Given the description of an element on the screen output the (x, y) to click on. 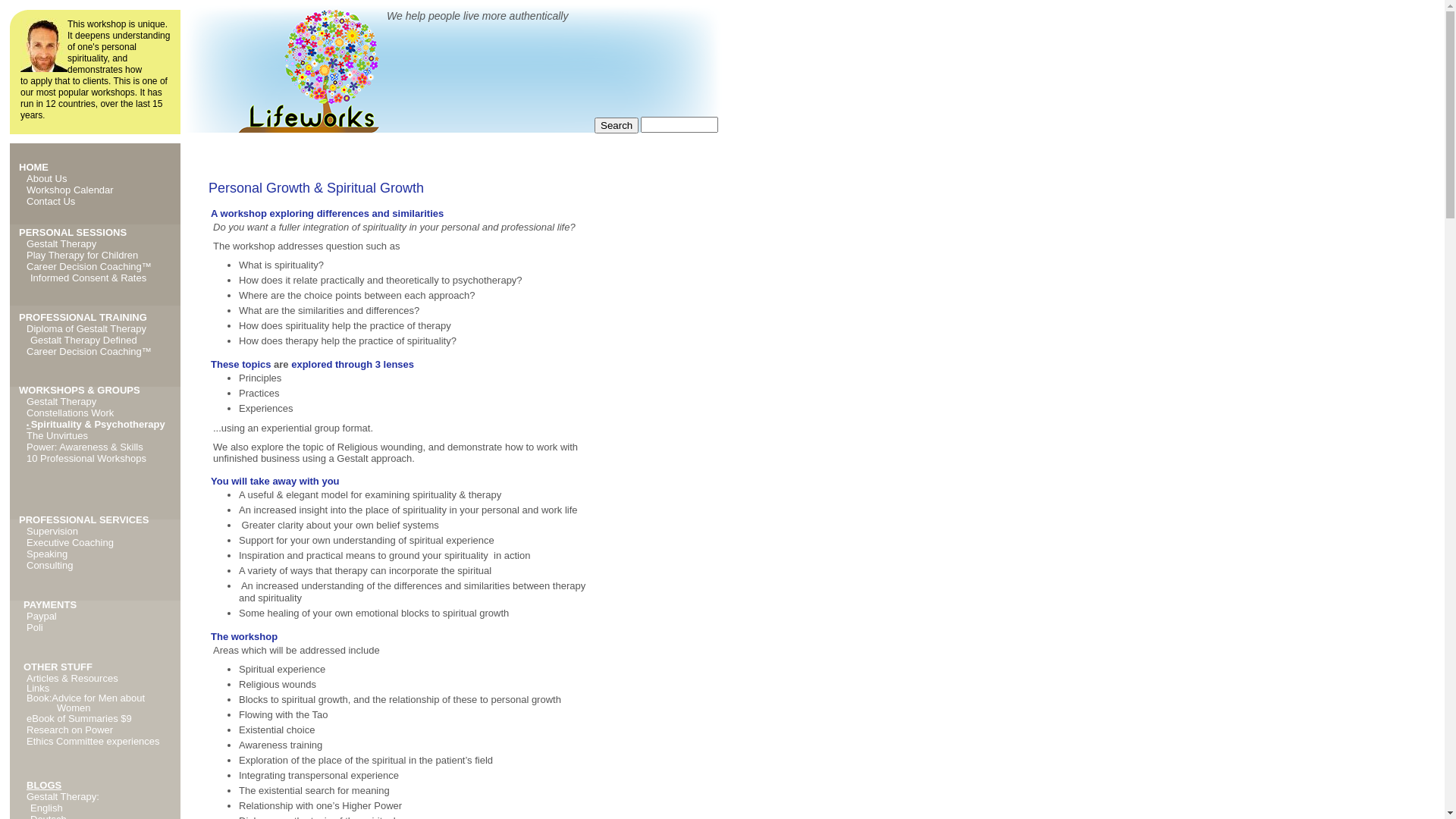
Ethics Committee experiences Element type: text (93, 740)
The Unvirtues Element type: text (56, 435)
Power: Awareness & Skills Element type: text (84, 446)
OTHER STUFF Element type: text (57, 666)
Links Element type: text (37, 687)
BLOGS Element type: text (43, 784)
Gestalt Therapy Defined Element type: text (83, 339)
Speaking Element type: text (46, 553)
Gestalt Therapy Element type: text (61, 243)
Consulting Element type: text (49, 565)
Search Element type: text (616, 125)
About Us Element type: text (46, 178)
Gestalt Therapy Element type: text (61, 401)
PAYMENTS Element type: text (49, 604)
10 Professional Workshops Element type: text (86, 458)
Executive Coaching Element type: text (69, 542)
Diploma of Gestalt Therapy Element type: text (86, 328)
Play Therapy for Children Element type: text (82, 254)
Supervision Element type: text (52, 530)
Paypal Element type: text (41, 615)
English Element type: text (46, 807)
eBook of Summaries $9 Element type: text (78, 718)
Contact Us Element type: text (50, 201)
Articles & Resources Element type: text (72, 678)
Research on Power Element type: text (69, 729)
Workshop Calendar Element type: text (69, 189)
Constellations Work Element type: text (69, 412)
Informed Consent & Rates Element type: text (88, 277)
HOME Element type: text (33, 166)
Book:Advice for Men about Women Element type: text (85, 702)
Poli Element type: text (34, 627)
Spirituality & Psychotherapy Element type: text (98, 423)
